Given the description of an element on the screen output the (x, y) to click on. 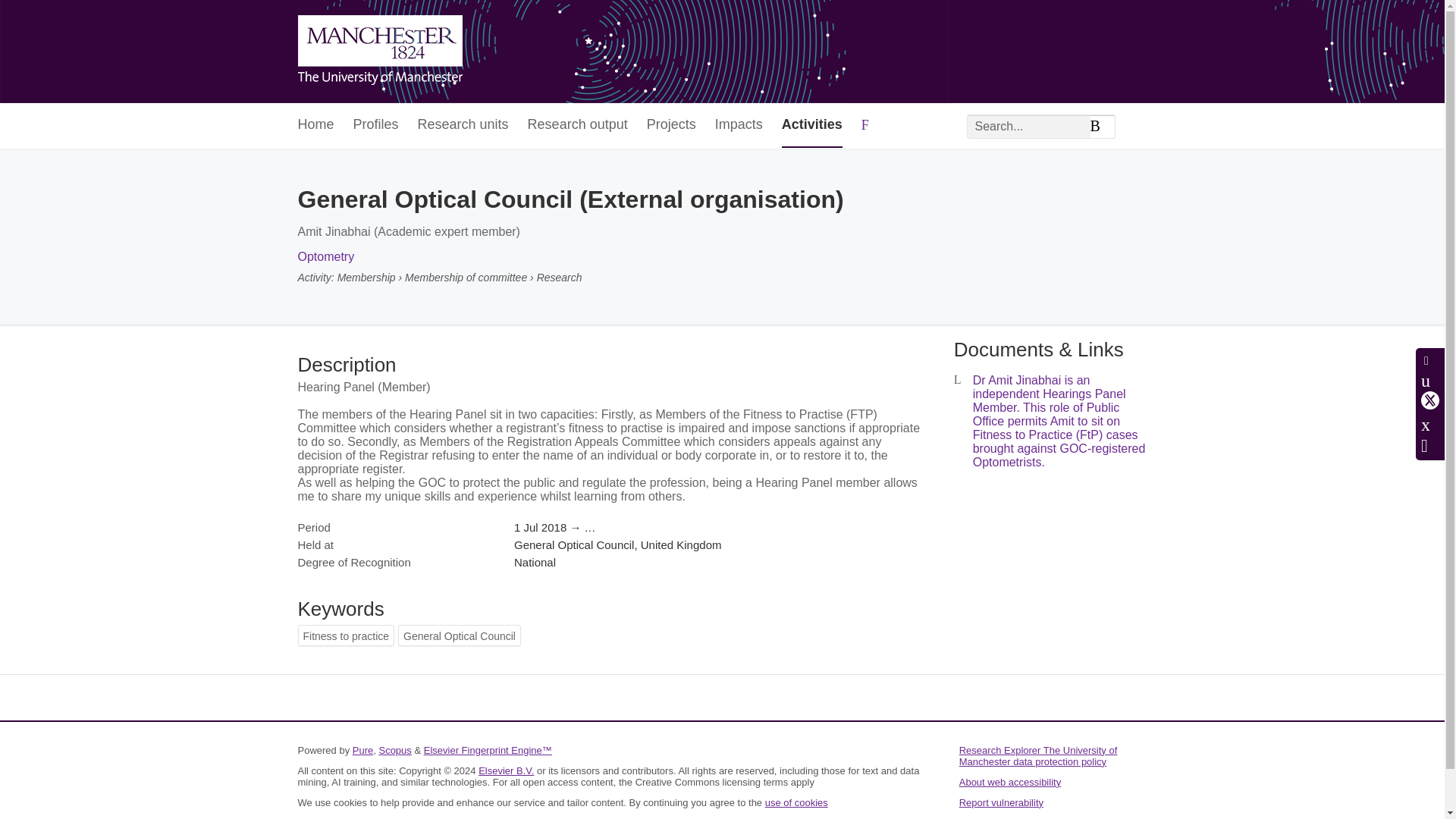
Research output (577, 125)
Profiles (375, 125)
use of cookies (796, 802)
Report vulnerability (1001, 802)
Elsevier B.V. (506, 770)
Activities (812, 125)
About web accessibility (1010, 781)
Research units (462, 125)
Optometry (325, 256)
Pure (362, 749)
Projects (670, 125)
Scopus (394, 749)
X (1430, 400)
Research Explorer The University of Manchester Home (379, 51)
